Given the description of an element on the screen output the (x, y) to click on. 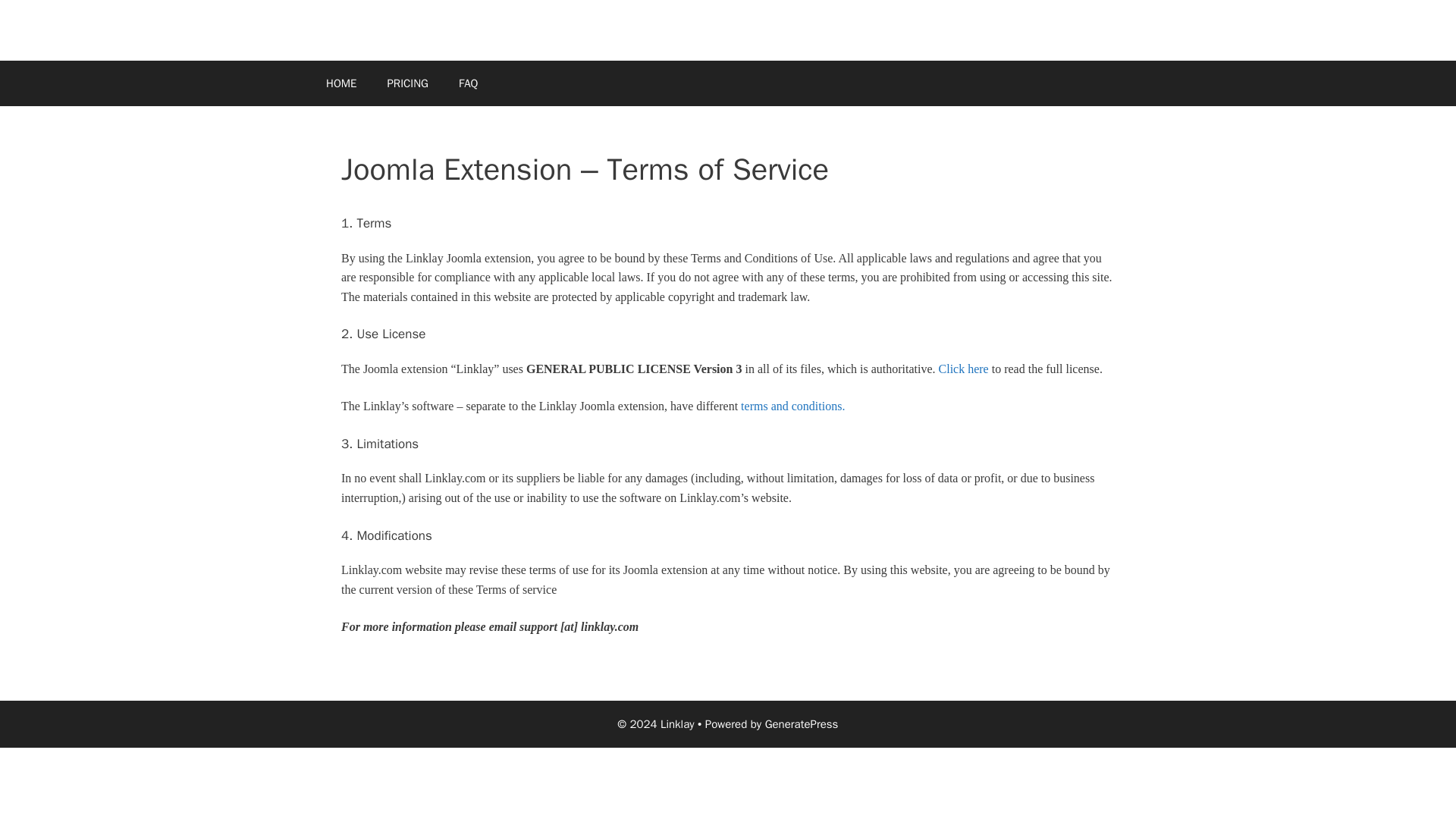
terms and conditions. (792, 405)
Click here (963, 368)
FAQ (468, 83)
GeneratePress (801, 724)
HOME (341, 83)
PRICING (407, 83)
